Given the description of an element on the screen output the (x, y) to click on. 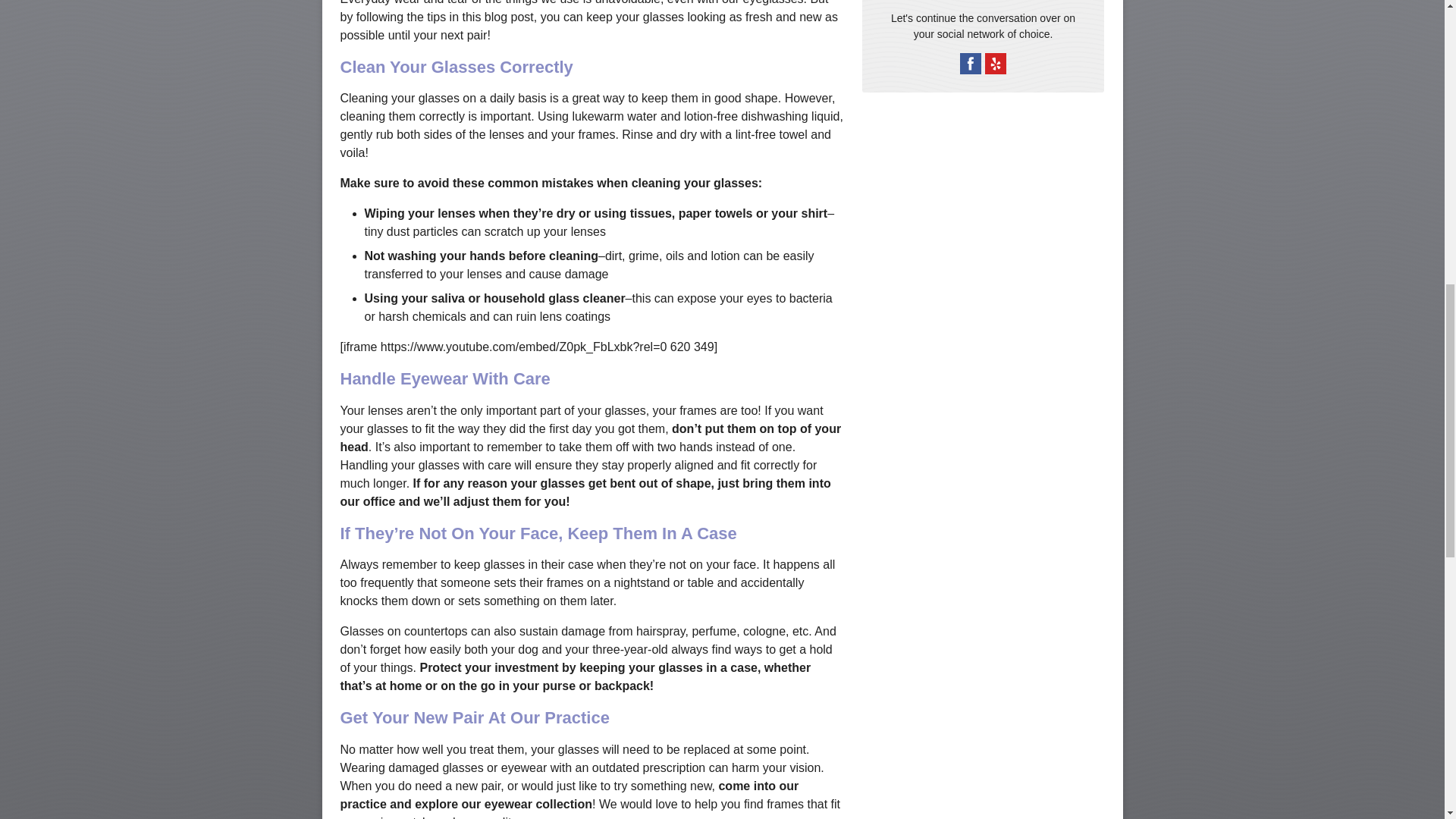
Go to our Facebook Page (970, 63)
Go to our Yelp Page (995, 63)
Facebook (970, 63)
